Given the description of an element on the screen output the (x, y) to click on. 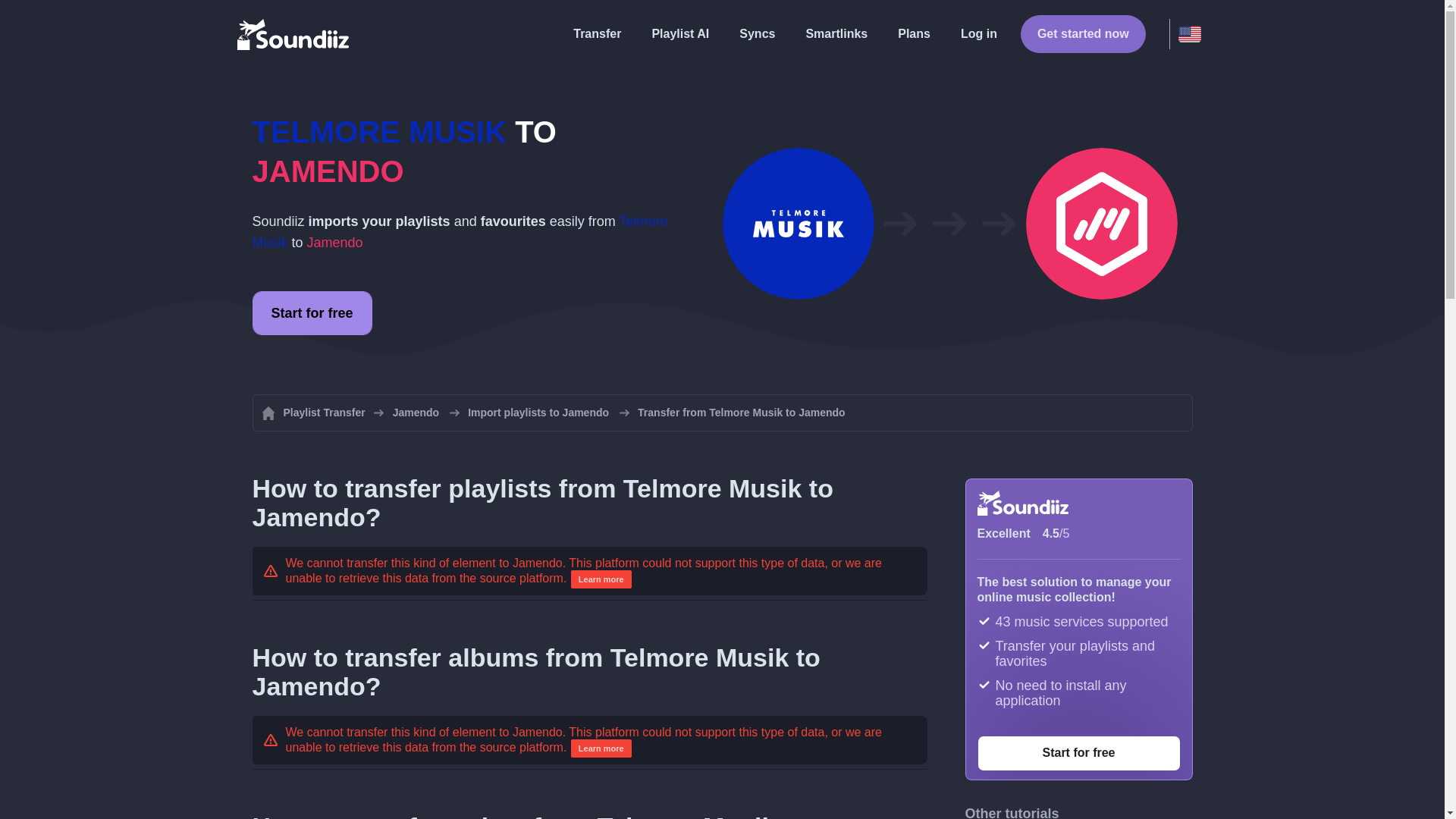
Transfer (597, 33)
Smartlinks (836, 33)
Keep synced playlists automatically (757, 33)
Playlist AI (679, 33)
Playlist AI (679, 33)
Plans (913, 33)
Get started now (1082, 34)
Log in (978, 33)
Syncs (757, 33)
Transfer (597, 33)
Plans (913, 33)
Learn more (600, 578)
Start for free (311, 312)
Get started now (1082, 34)
Import playlists to Jamendo (537, 412)
